Given the description of an element on the screen output the (x, y) to click on. 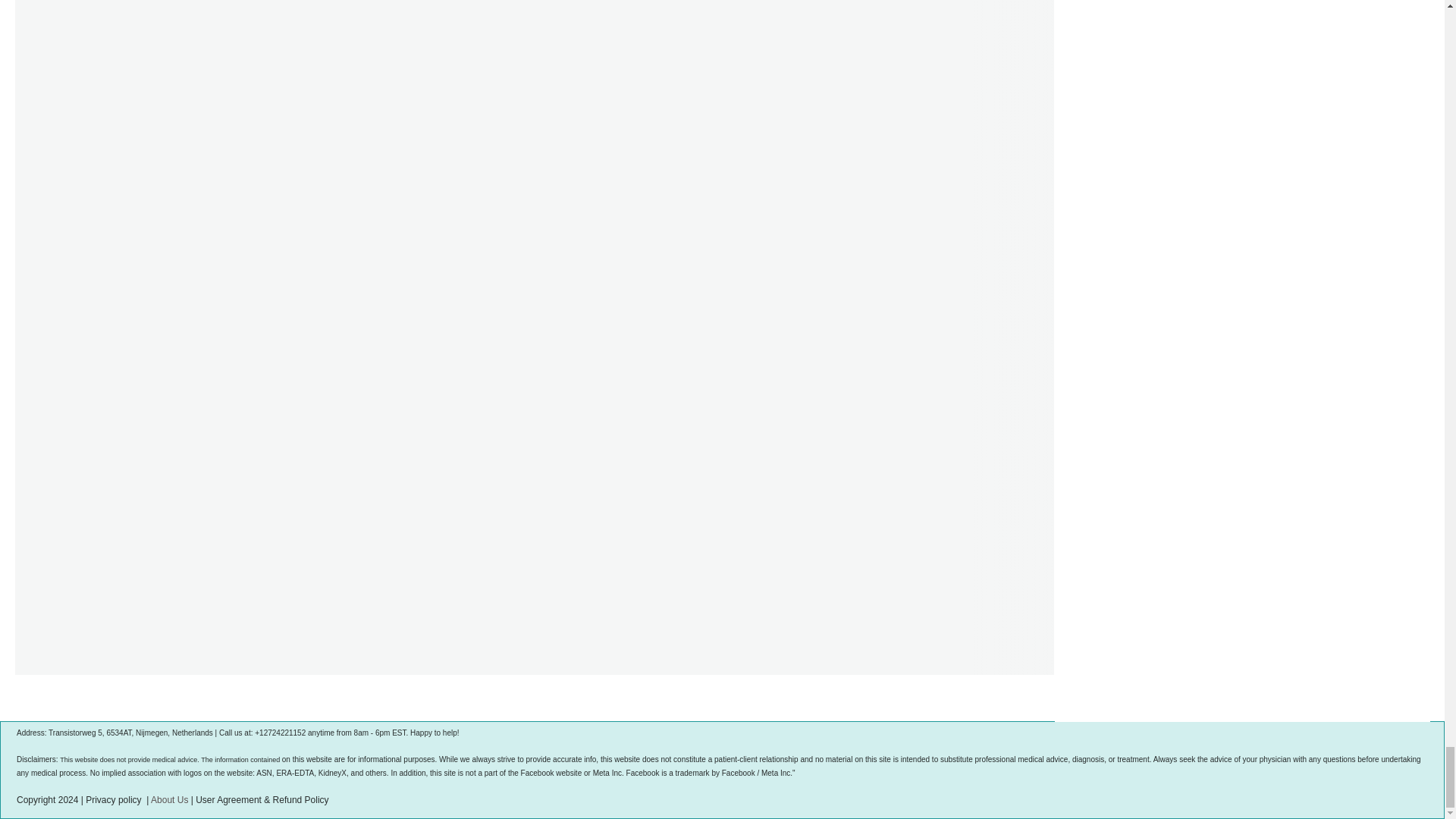
About Us (169, 799)
Privacy policy (113, 799)
